Given the description of an element on the screen output the (x, y) to click on. 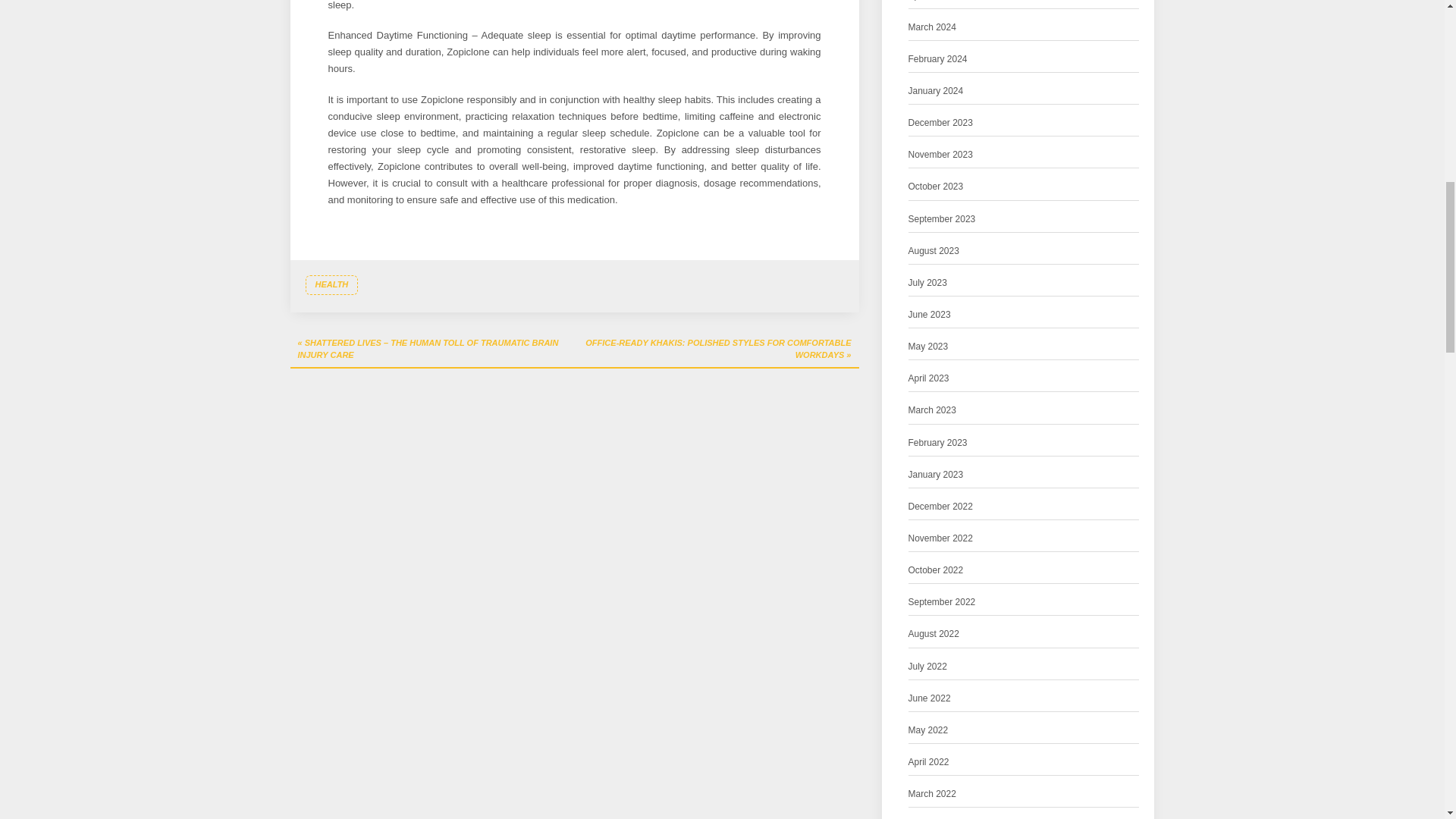
March 2023 (932, 410)
January 2023 (935, 474)
November 2022 (940, 538)
April 2024 (928, 2)
October 2022 (935, 570)
May 2023 (928, 346)
April 2023 (928, 378)
September 2022 (941, 602)
February 2024 (938, 59)
August 2023 (933, 251)
November 2023 (940, 154)
December 2023 (940, 123)
June 2023 (929, 314)
HEALTH (331, 284)
